Given the description of an element on the screen output the (x, y) to click on. 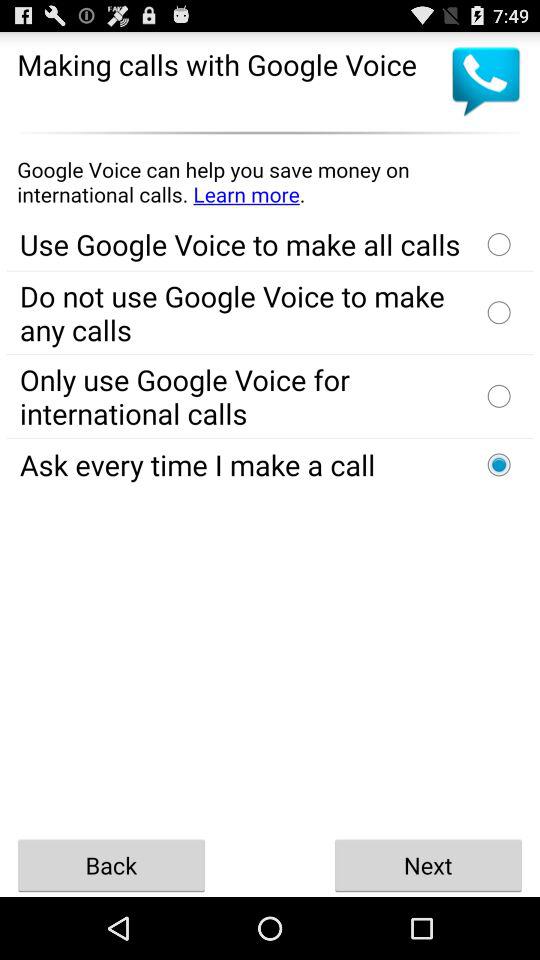
on (499, 464)
